Given the description of an element on the screen output the (x, y) to click on. 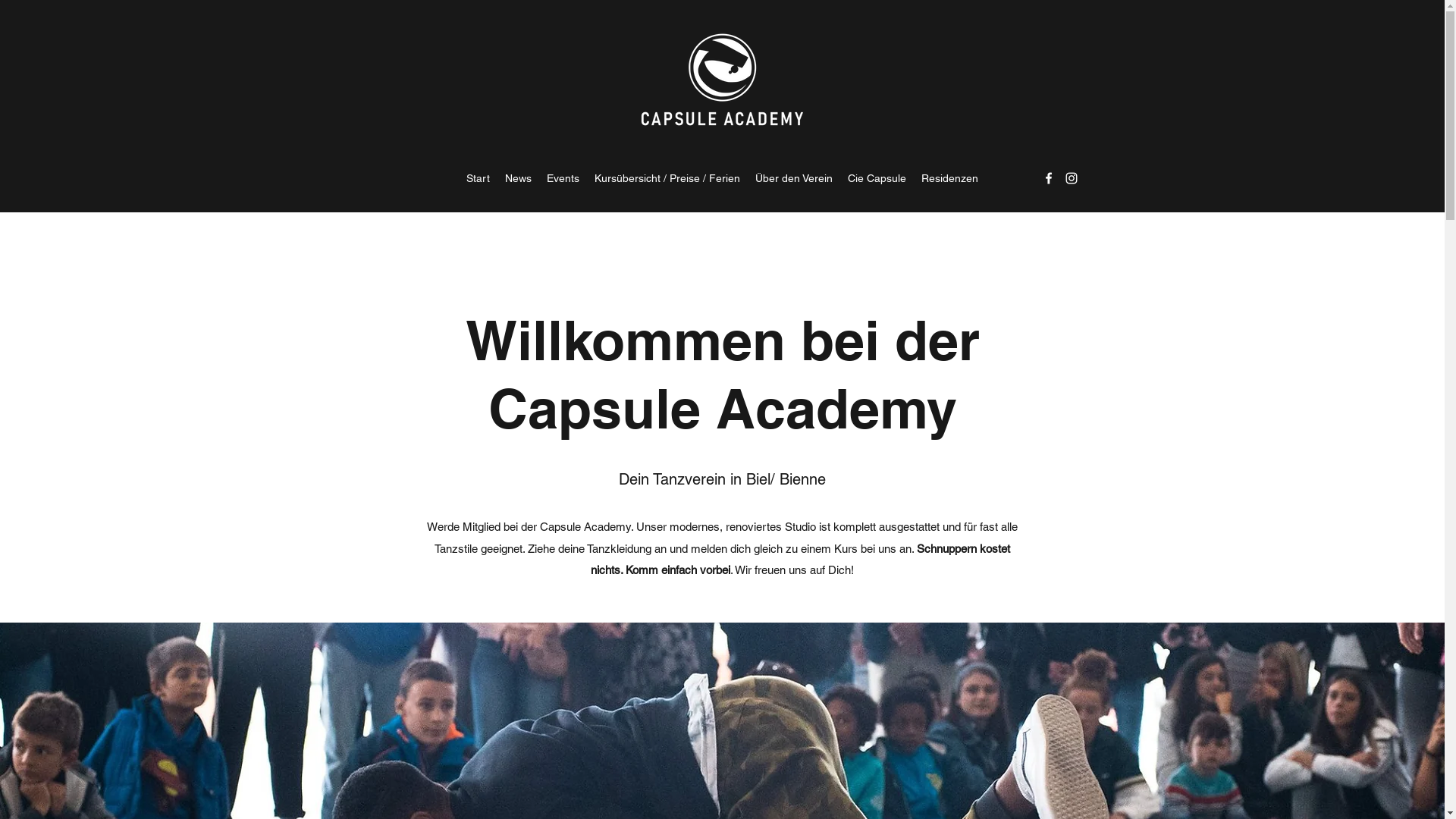
Cie Capsule Element type: text (876, 177)
Residenzen Element type: text (949, 177)
Events Element type: text (562, 177)
News Element type: text (518, 177)
Start Element type: text (477, 177)
